Given the description of an element on the screen output the (x, y) to click on. 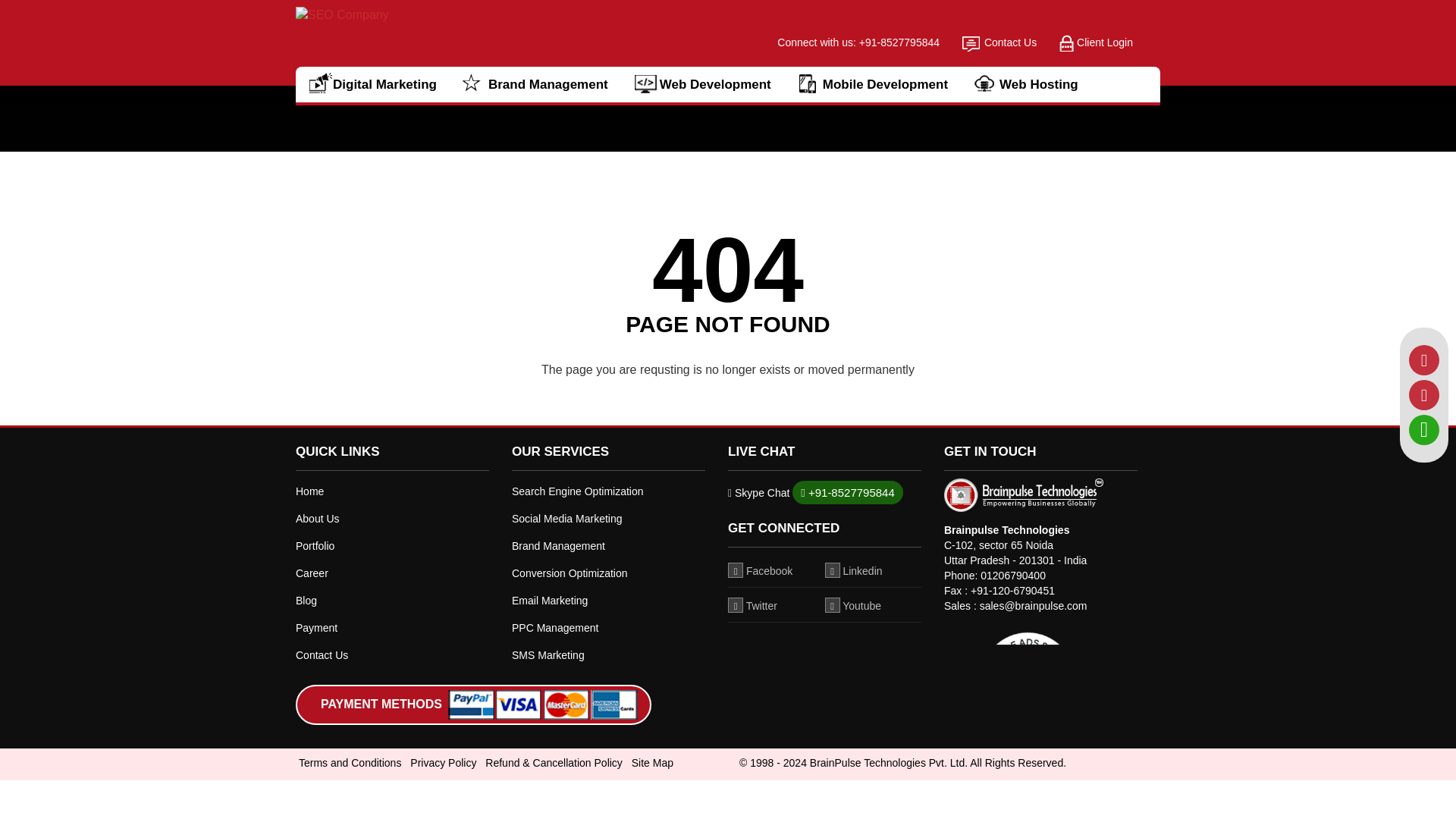
Client Login (1095, 42)
Brand Management (542, 84)
Blog (392, 601)
Career (392, 574)
Contact Us (999, 42)
Portfolio (392, 546)
About Us (392, 519)
Web Development (709, 84)
Home (392, 492)
Digital Marketing (378, 84)
Web Hosting (1033, 84)
Mobile Development (878, 84)
